Given the description of an element on the screen output the (x, y) to click on. 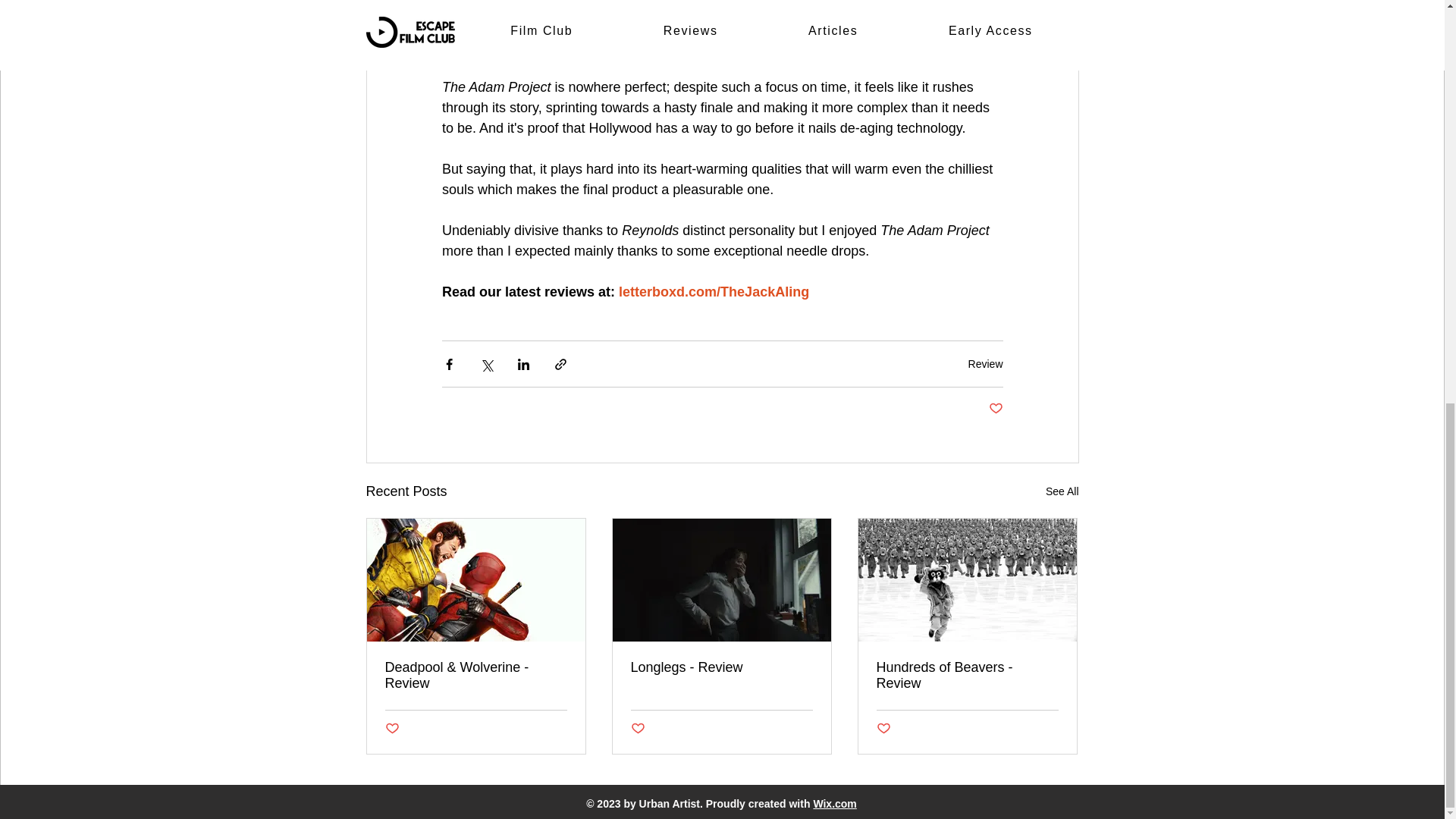
Proudly created with (759, 803)
Review (985, 363)
Post not marked as liked (883, 729)
Post not marked as liked (391, 729)
Longlegs - Review (721, 667)
Wix.com (834, 803)
Post not marked as liked (995, 408)
See All (1061, 491)
Post not marked as liked (637, 729)
Hundreds of Beavers - Review (967, 675)
